Given the description of an element on the screen output the (x, y) to click on. 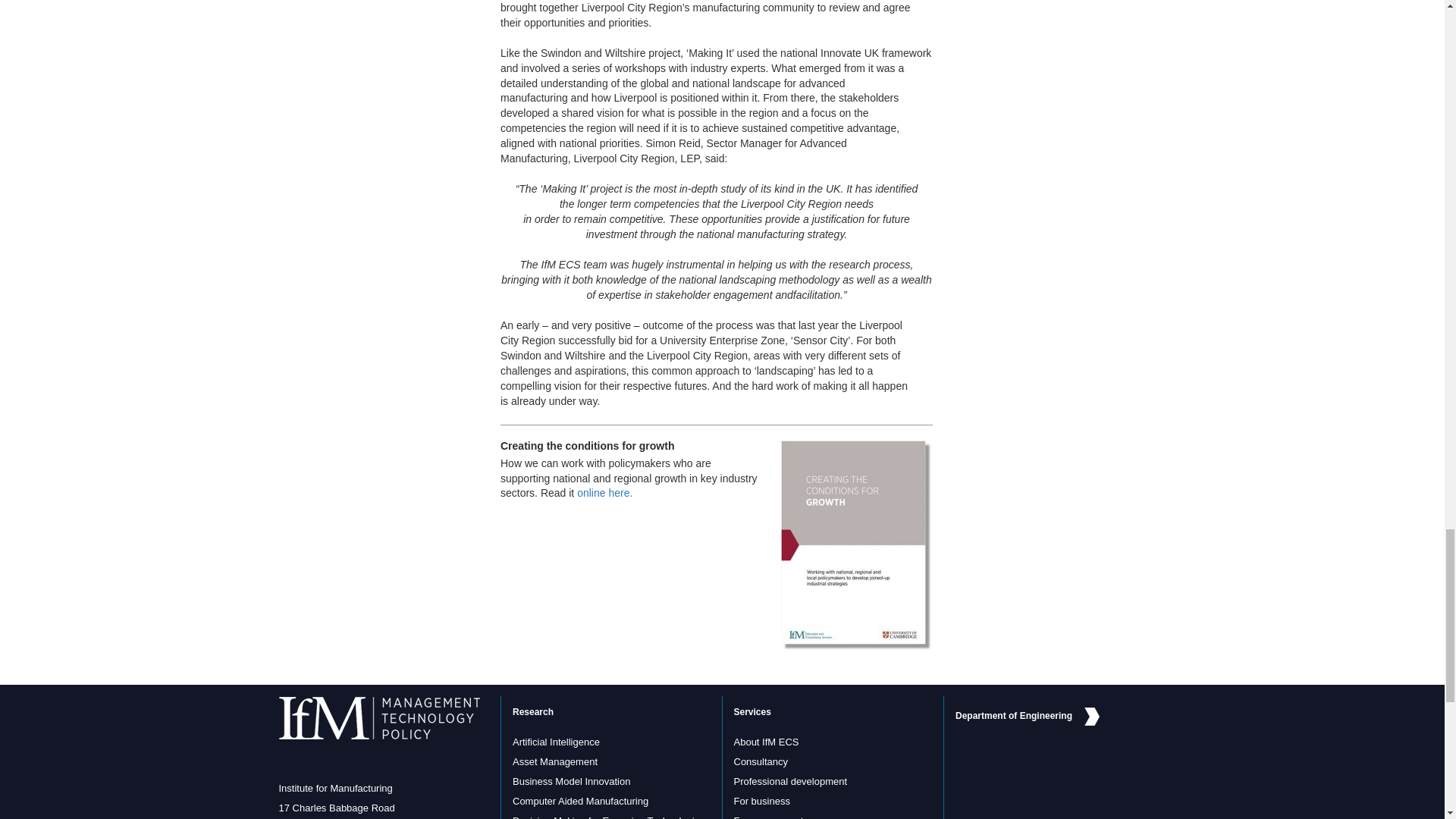
Supply Chain AI Lab (555, 741)
Decision-Making for Emerging Technologies (608, 816)
Asset Management (554, 761)
Computer Aided Manufacturing (579, 800)
